Given the description of an element on the screen output the (x, y) to click on. 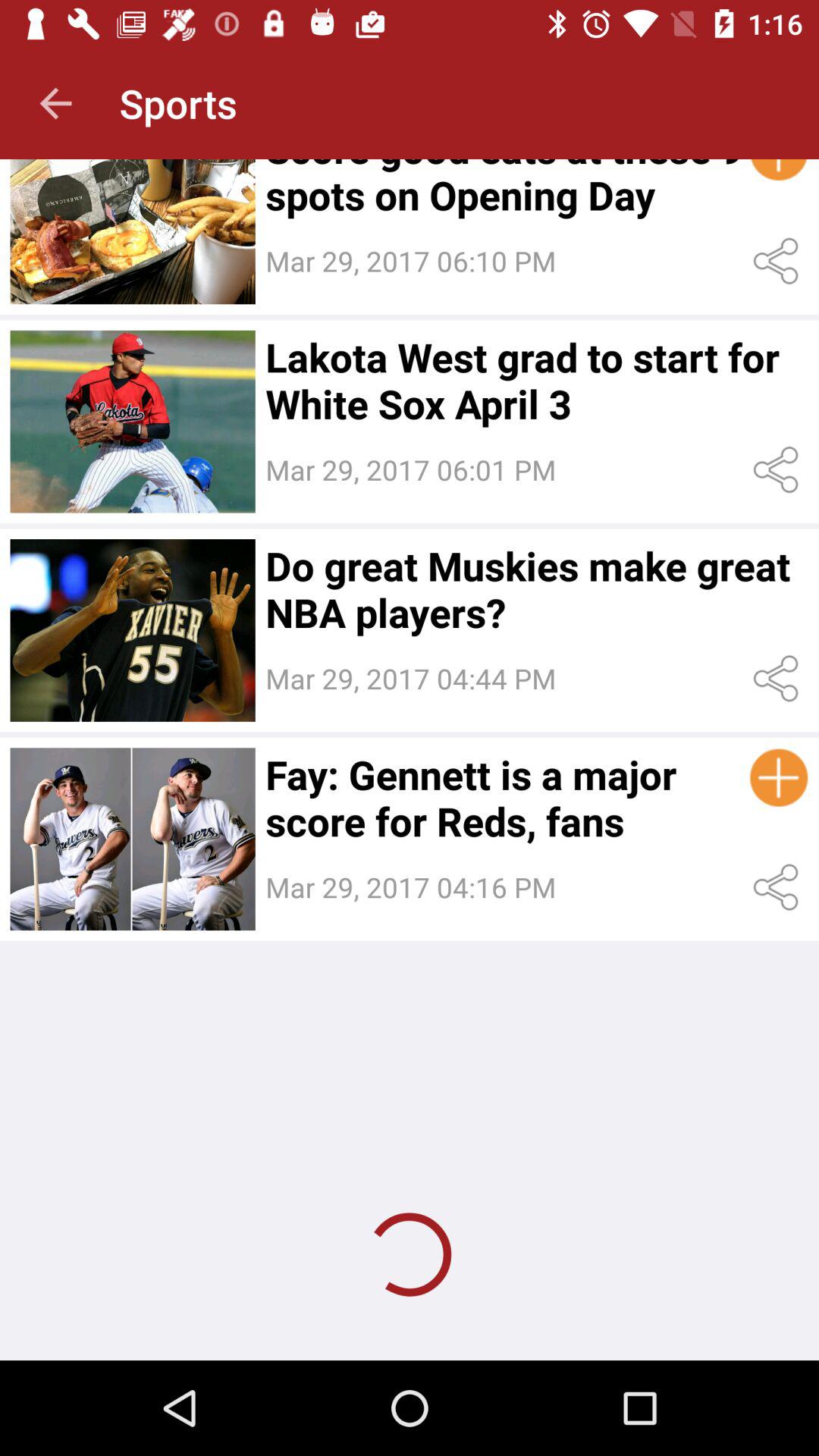
toggle image option (132, 838)
